Given the description of an element on the screen output the (x, y) to click on. 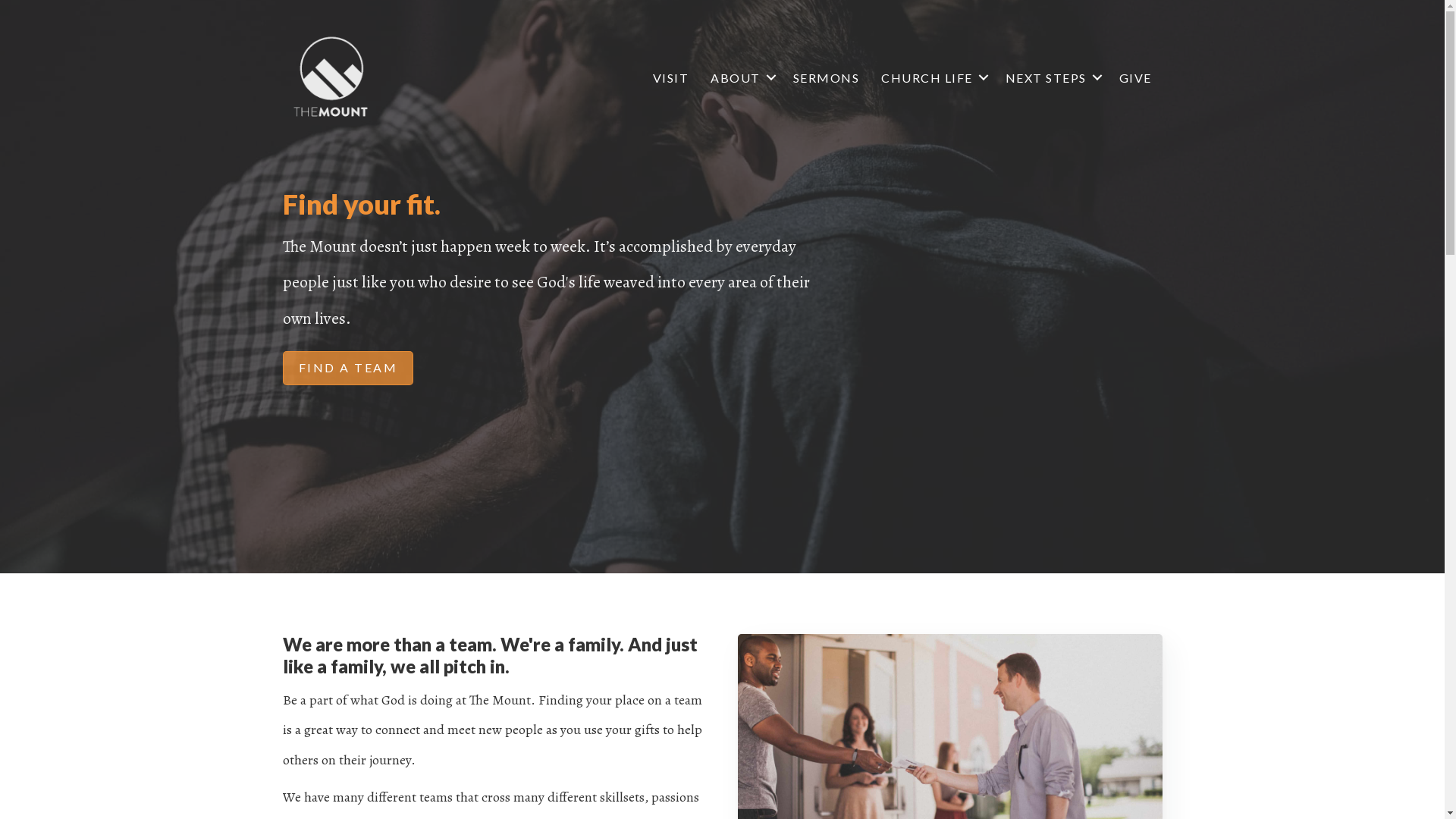
Find your fit. Element type: text (360, 203)
NEXT STEPS Element type: text (1050, 77)
SERMONS Element type: text (826, 77)
GIVE Element type: text (1135, 77)
VISIT Element type: text (670, 77)
ABOUT Element type: text (740, 77)
CHURCH LIFE Element type: text (932, 77)
FIND A TEAM Element type: text (347, 368)
